Given the description of an element on the screen output the (x, y) to click on. 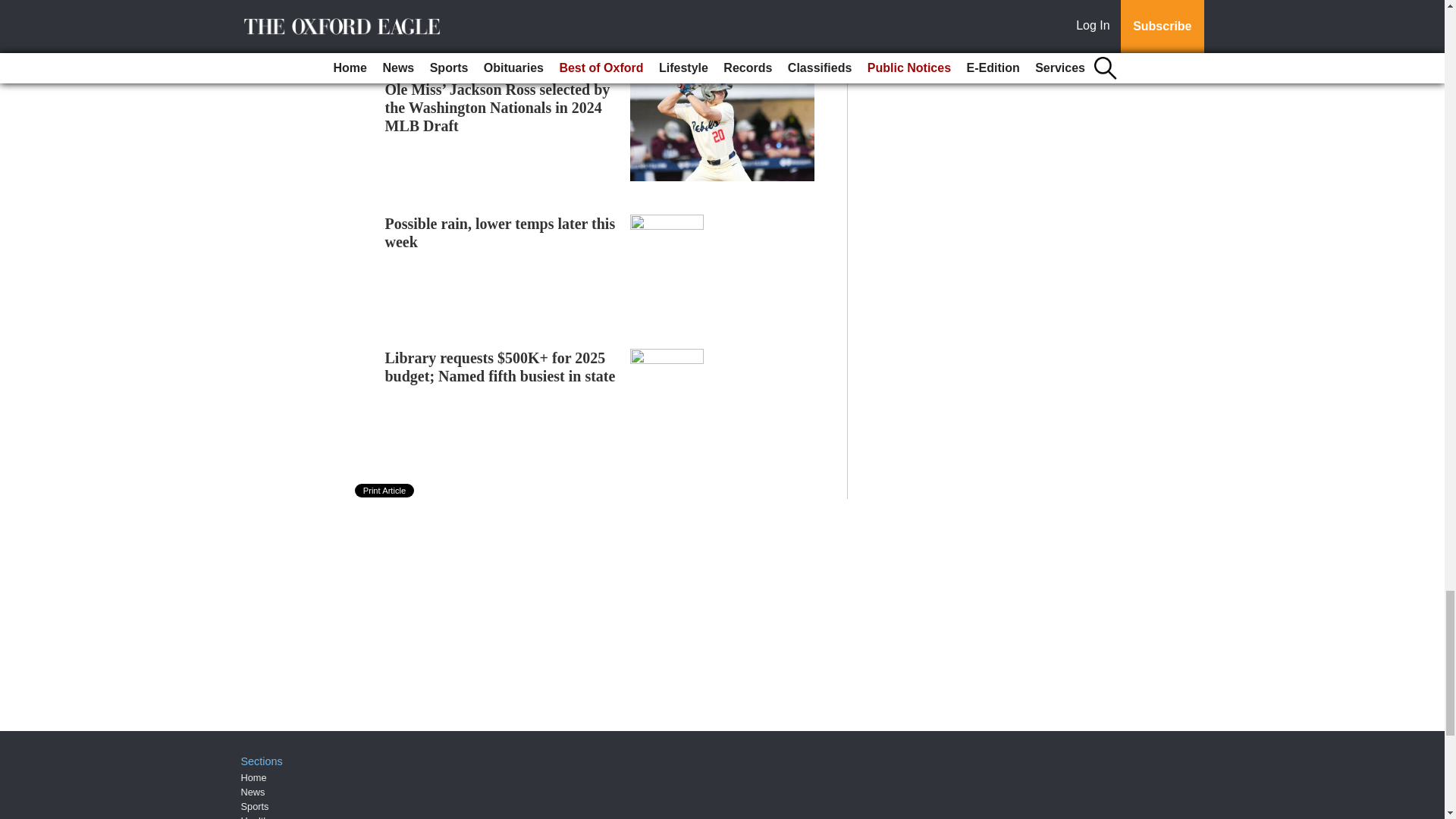
Print Article (384, 490)
Possible rain, lower temps later this week (500, 232)
Possible rain, lower temps later this week (500, 232)
